Given the description of an element on the screen output the (x, y) to click on. 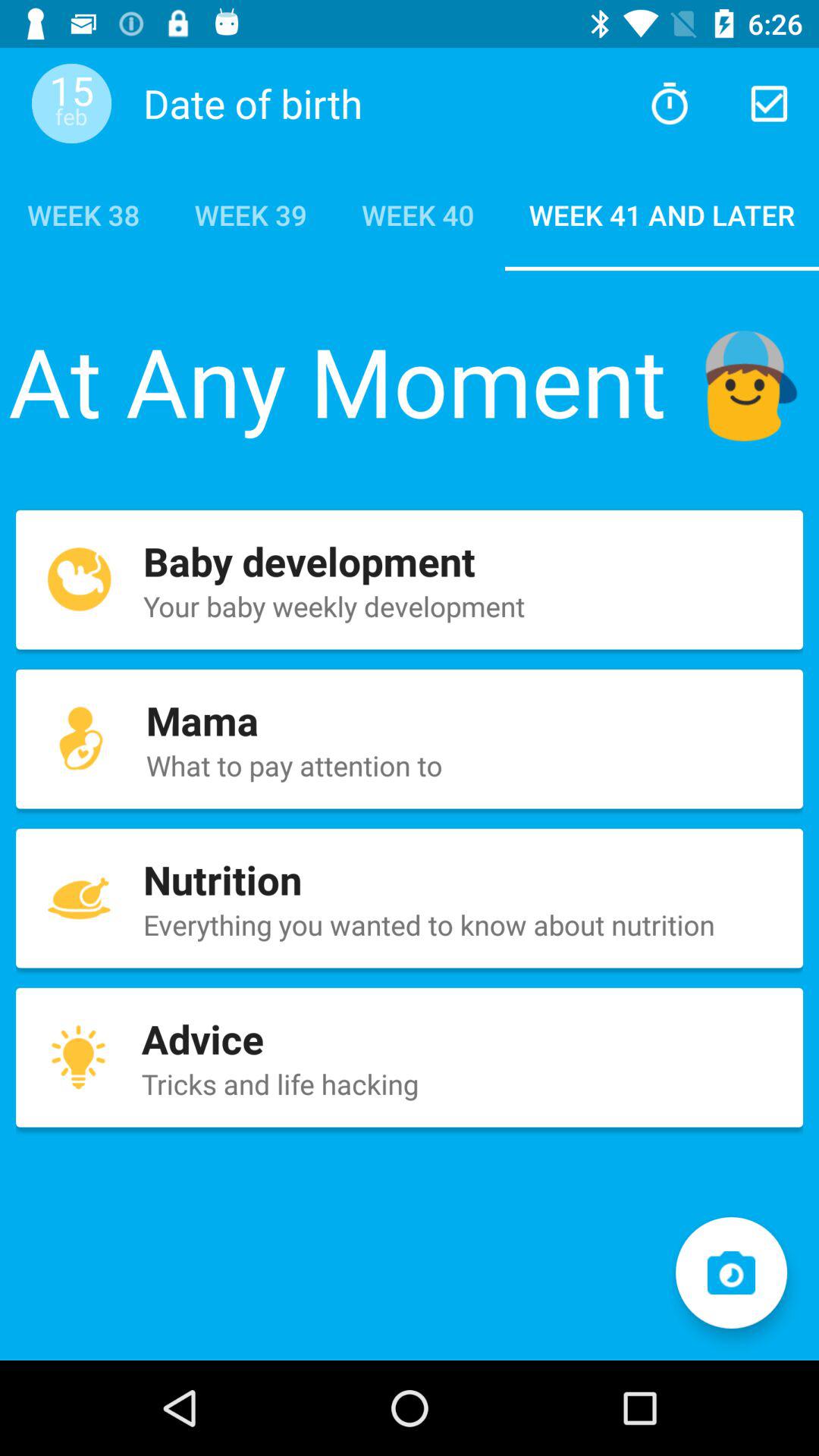
take a photo (731, 1272)
